Given the description of an element on the screen output the (x, y) to click on. 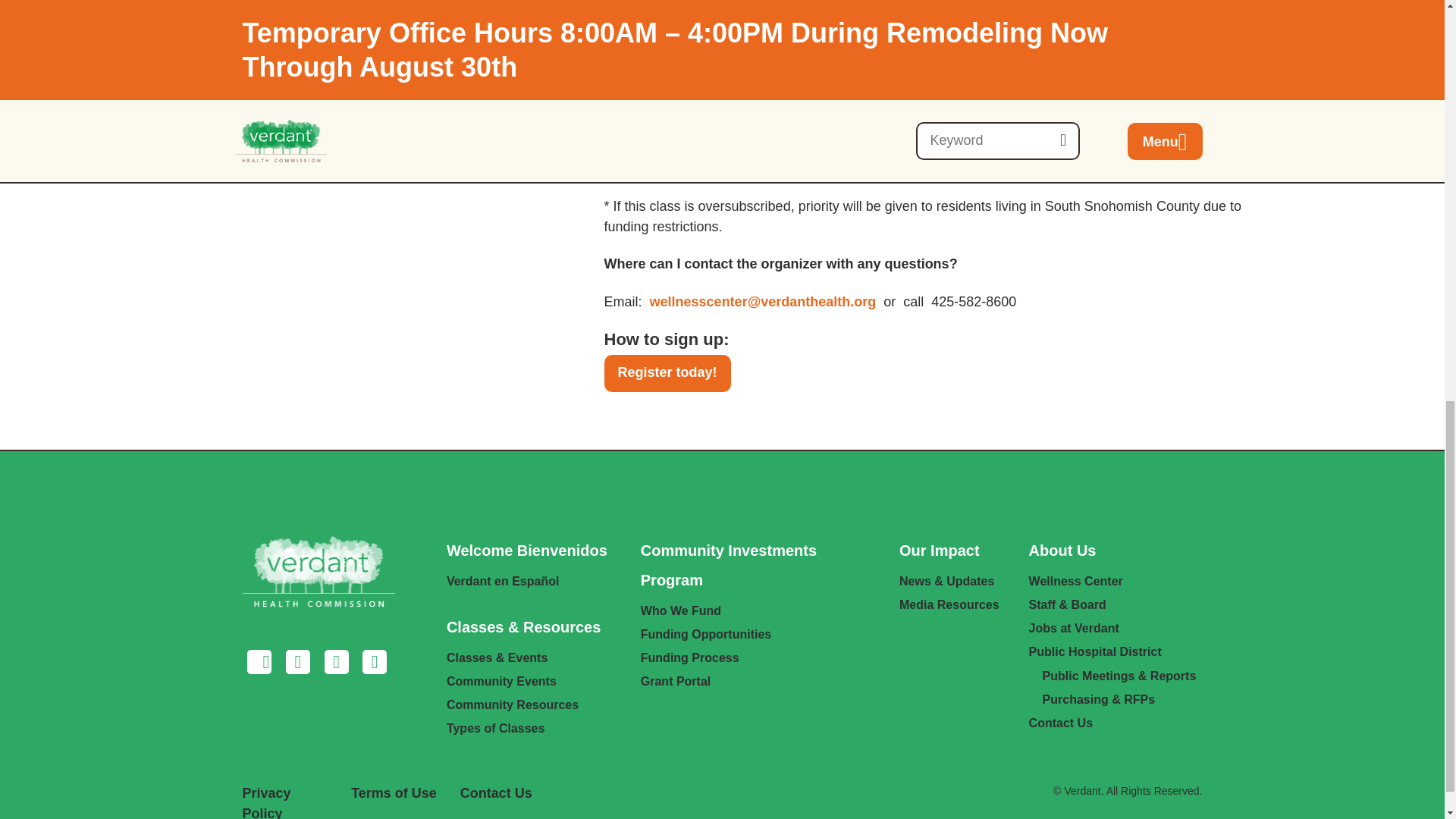
Register today! (667, 373)
Facebook link (260, 663)
Register today! (667, 373)
Twitter link (335, 663)
YouTube link (373, 663)
Welcome Bienvenidos (526, 550)
Instagram link (298, 663)
